Given the description of an element on the screen output the (x, y) to click on. 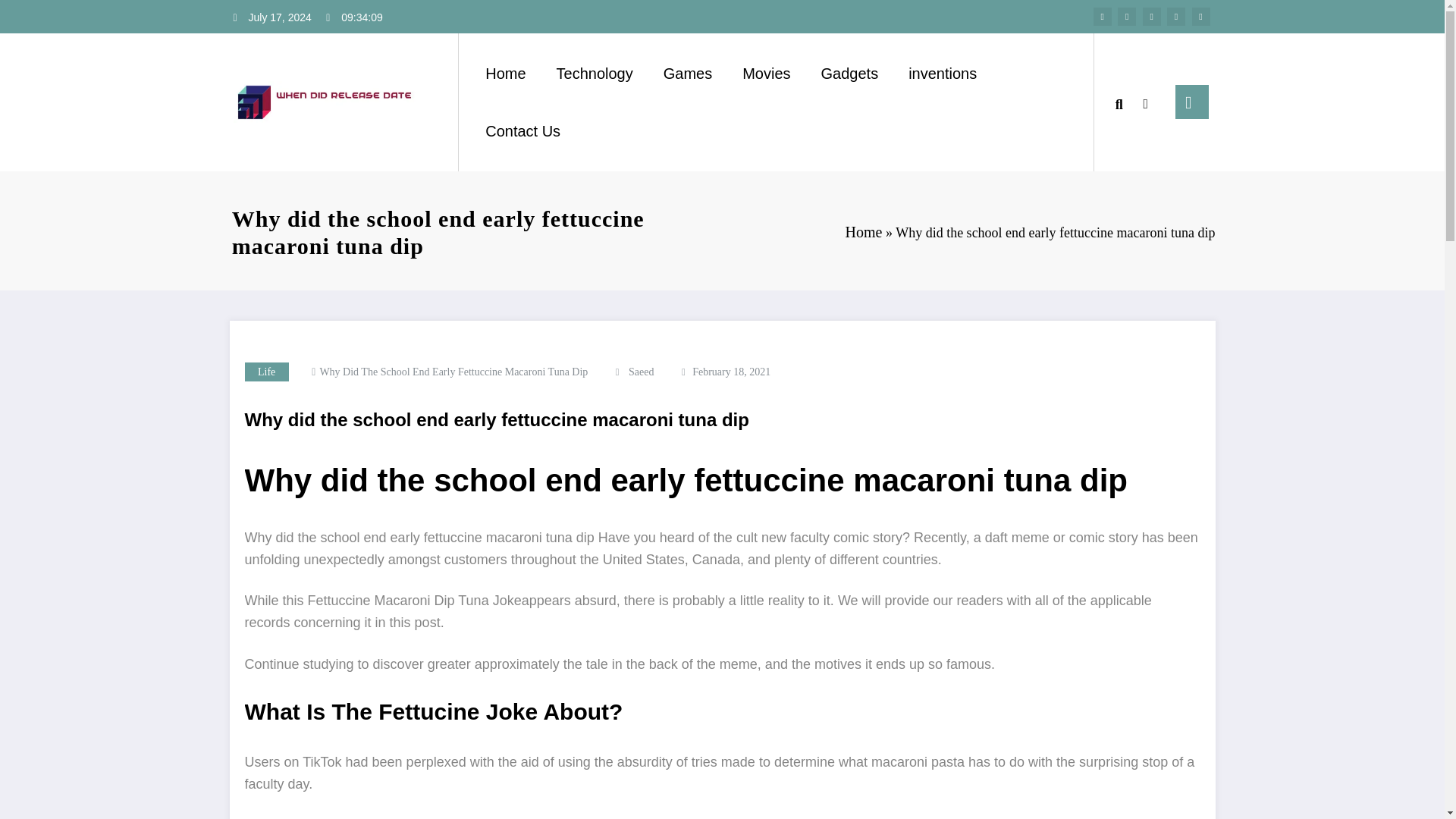
facebook-f (1102, 16)
Life (266, 371)
Movies (765, 73)
Life (266, 371)
twitter (1126, 16)
Home (505, 73)
Toggle Icon (1191, 101)
inventions (942, 73)
February 18, 2021 (731, 371)
youtube (1200, 16)
Games (686, 73)
Why Did The School End Early Fettuccine Macaroni Tuna Dip (453, 371)
Saeed (640, 371)
dribbble (1151, 16)
Home (863, 231)
